Given the description of an element on the screen output the (x, y) to click on. 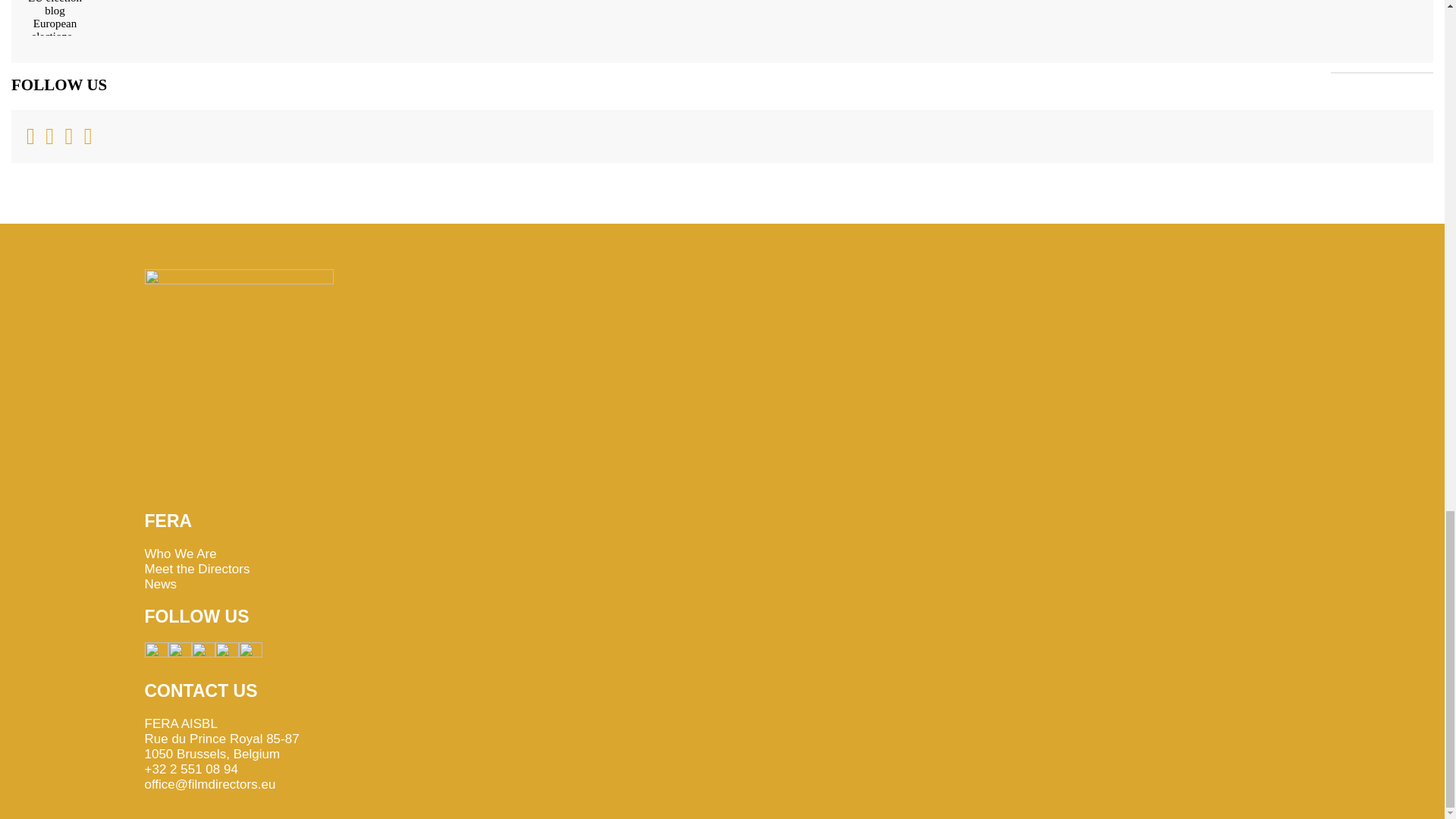
Meet the Directors (196, 568)
Who We Are (179, 554)
News (160, 584)
